Given the description of an element on the screen output the (x, y) to click on. 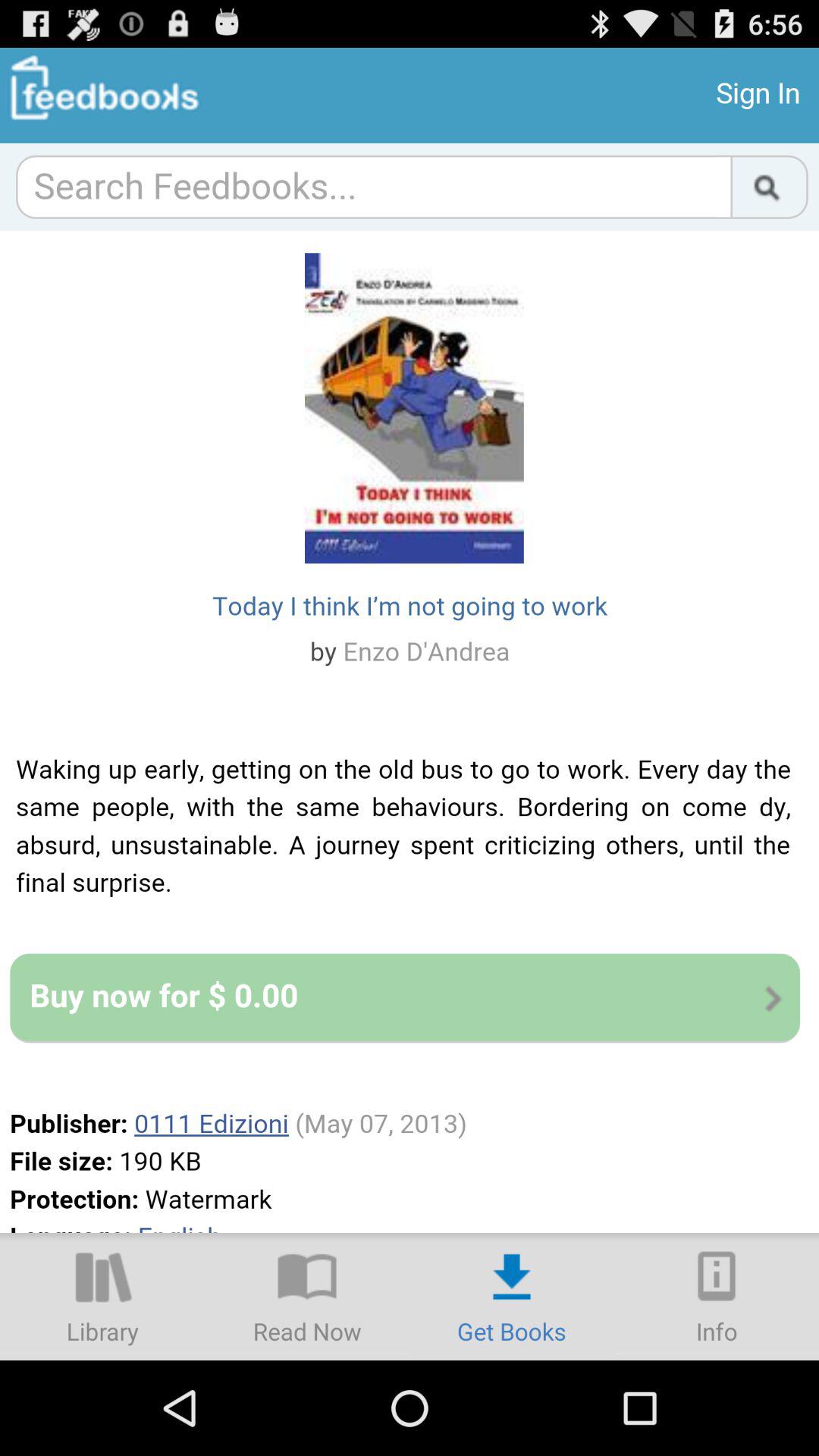
shows the librabry option (102, 1296)
